Given the description of an element on the screen output the (x, y) to click on. 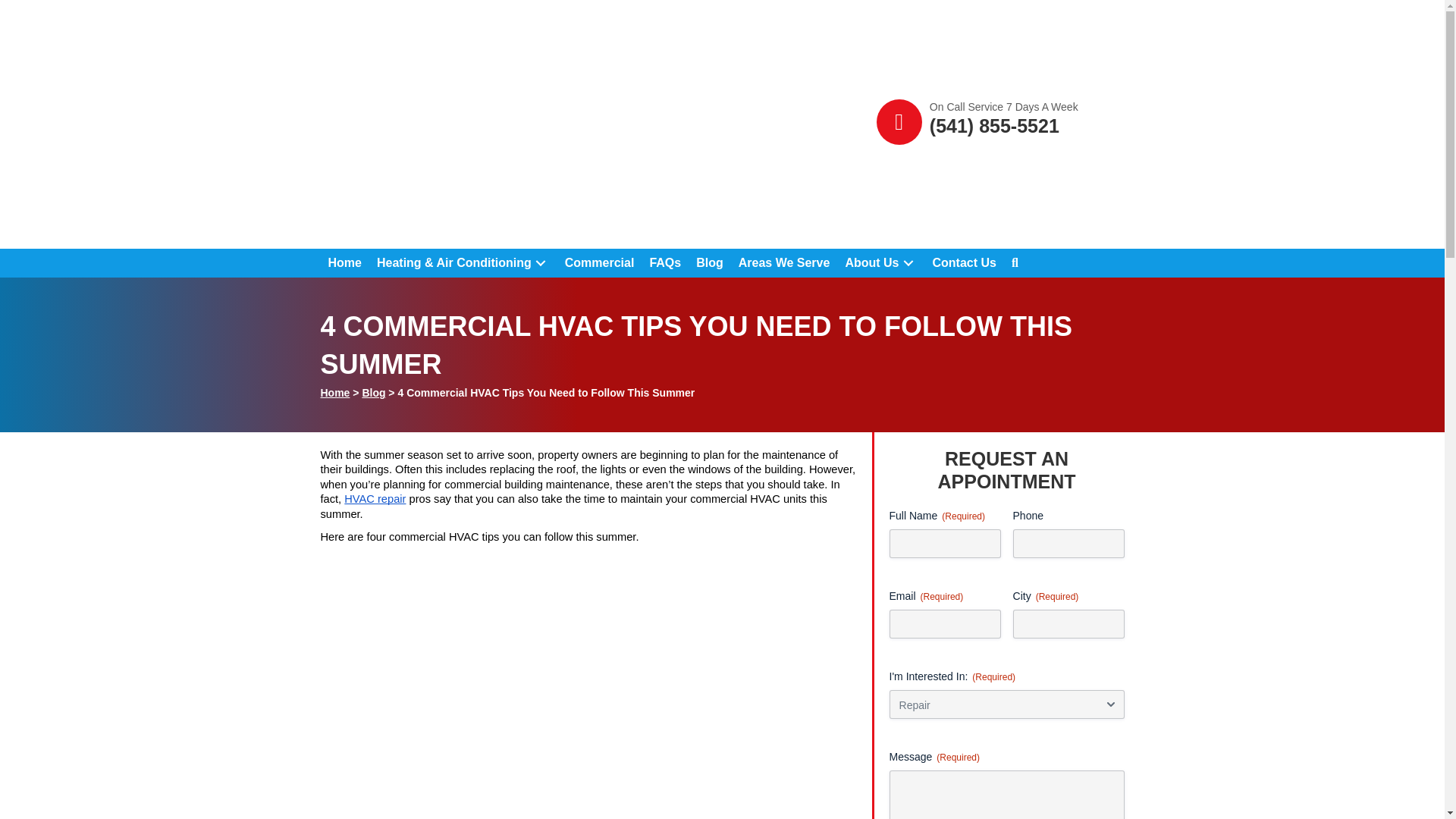
About Us (880, 262)
Contact Us (964, 262)
Areas We Serve (784, 262)
Home (344, 262)
Commercial (599, 262)
FAQs (665, 262)
Blog (709, 262)
